Given the description of an element on the screen output the (x, y) to click on. 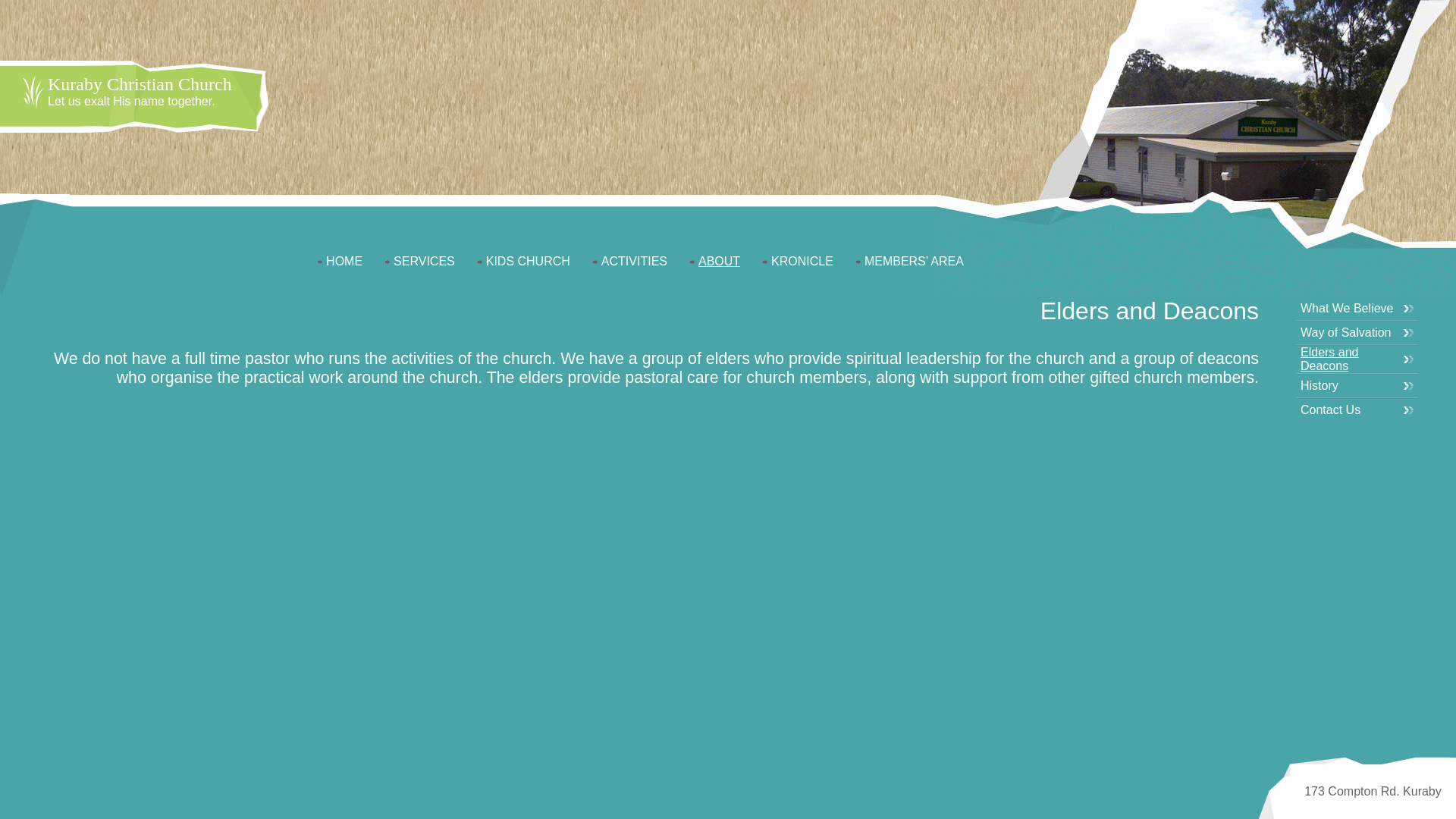
Contact Us Element type: text (1330, 409)
History Element type: text (1319, 385)
Way of Salvation Element type: text (1345, 332)
ABOUT Element type: text (719, 260)
KIDS CHURCH Element type: text (528, 260)
Elders and Deacons Element type: text (1329, 358)
ACTIVITIES Element type: text (634, 260)
What We Believe Element type: text (1346, 307)
HOME Element type: text (344, 260)
SERVICES Element type: text (424, 260)
KRONICLE Element type: text (802, 260)
